Given the description of an element on the screen output the (x, y) to click on. 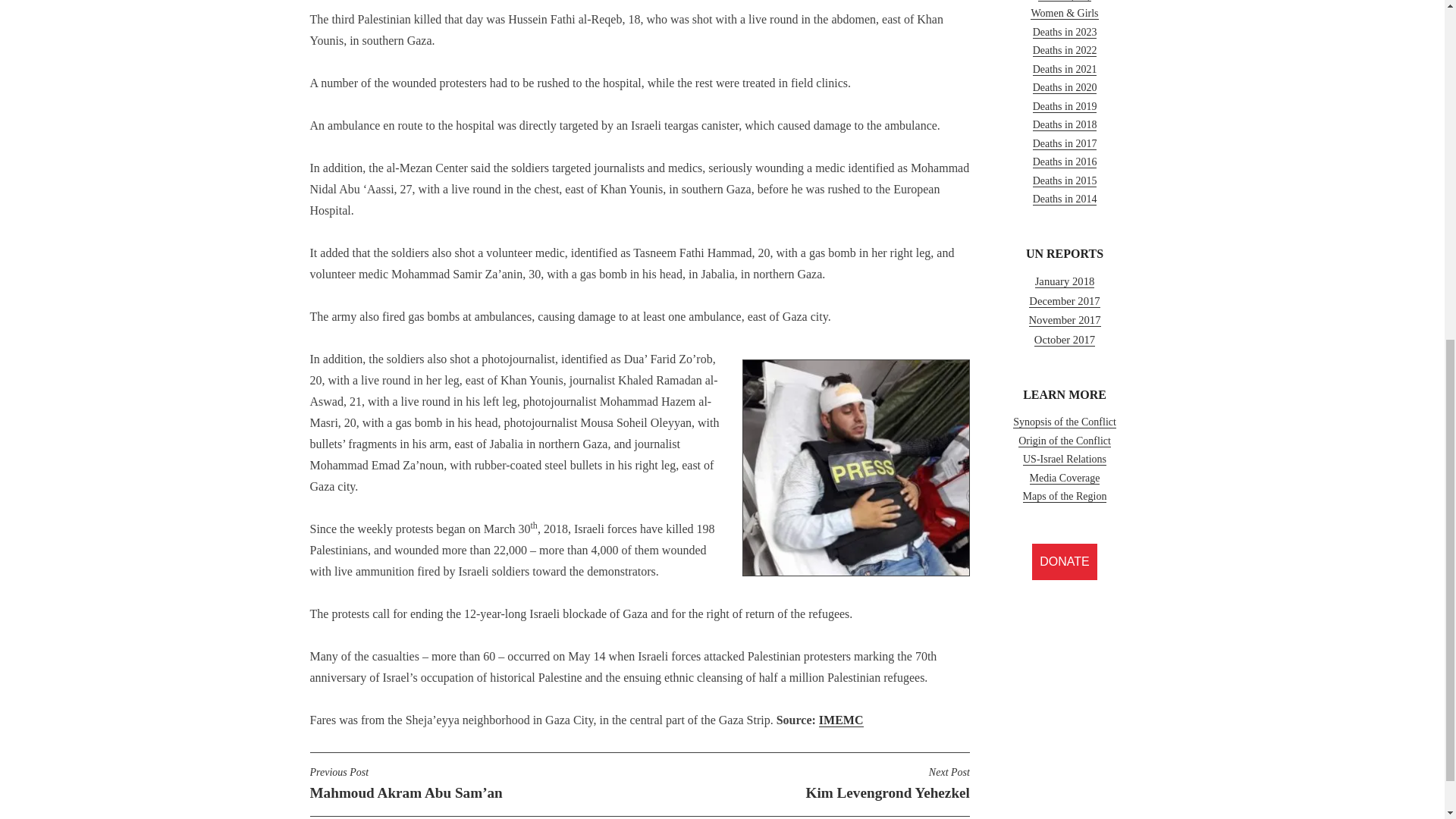
IMEMC (840, 720)
